Given the description of an element on the screen output the (x, y) to click on. 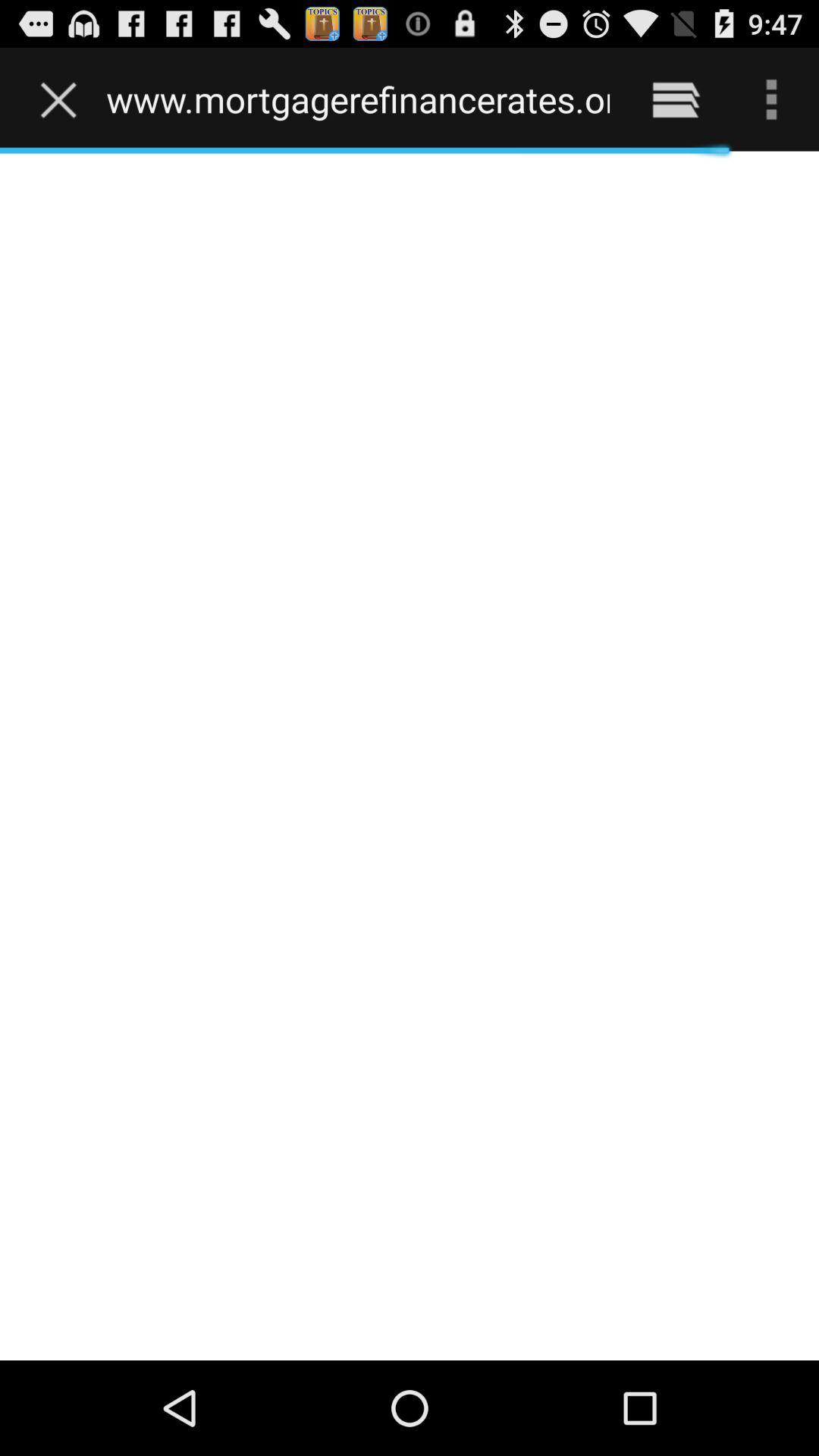
select www mortgagerefinancerates org item (357, 99)
